Given the description of an element on the screen output the (x, y) to click on. 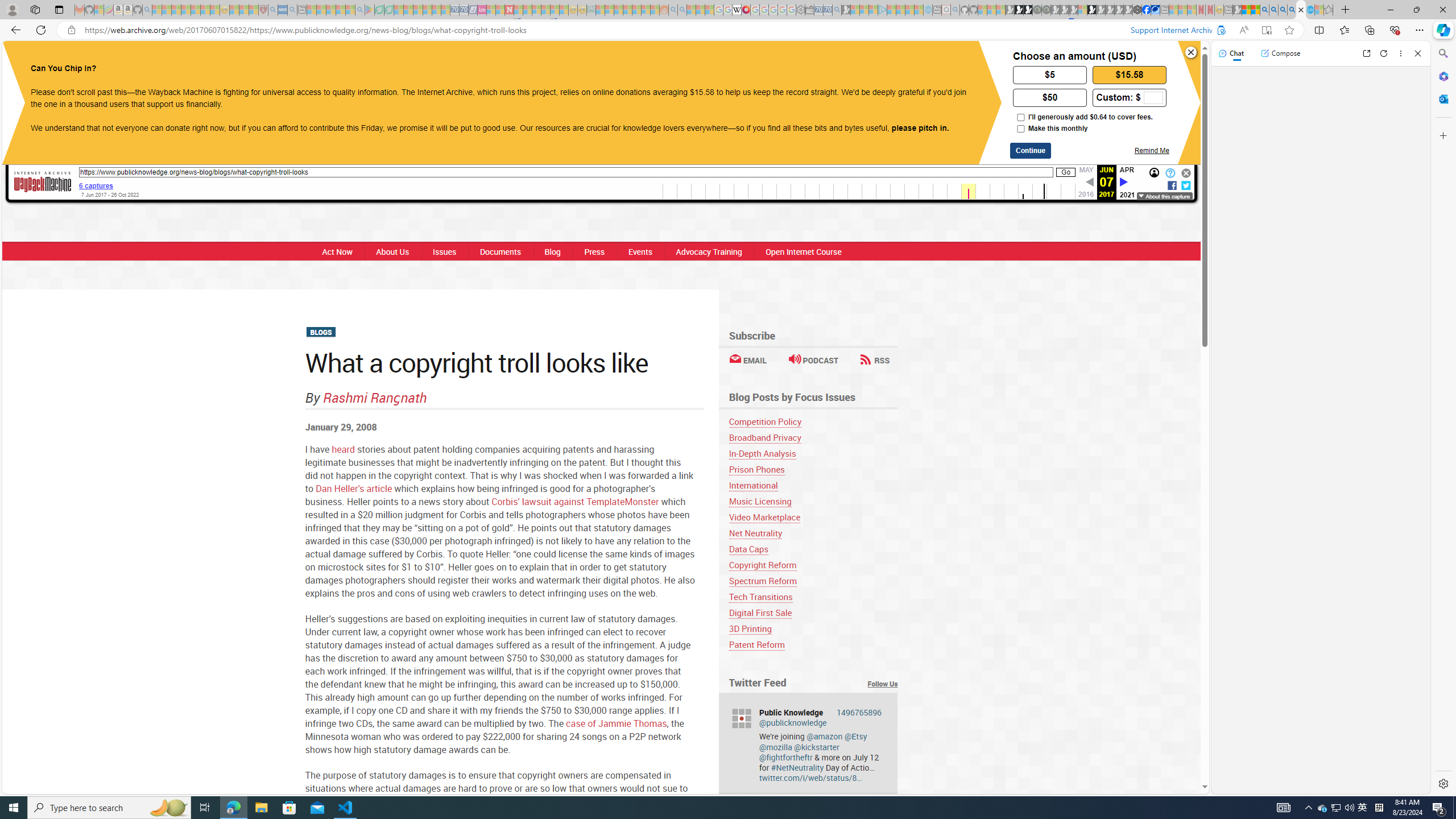
Chat (1231, 52)
MSNBC - MSN - Sleeping (600, 9)
Favorites - Sleeping (1328, 9)
Terms of Use Agreement - Sleeping (378, 9)
Rashmi Rangnath (374, 397)
